Given the description of an element on the screen output the (x, y) to click on. 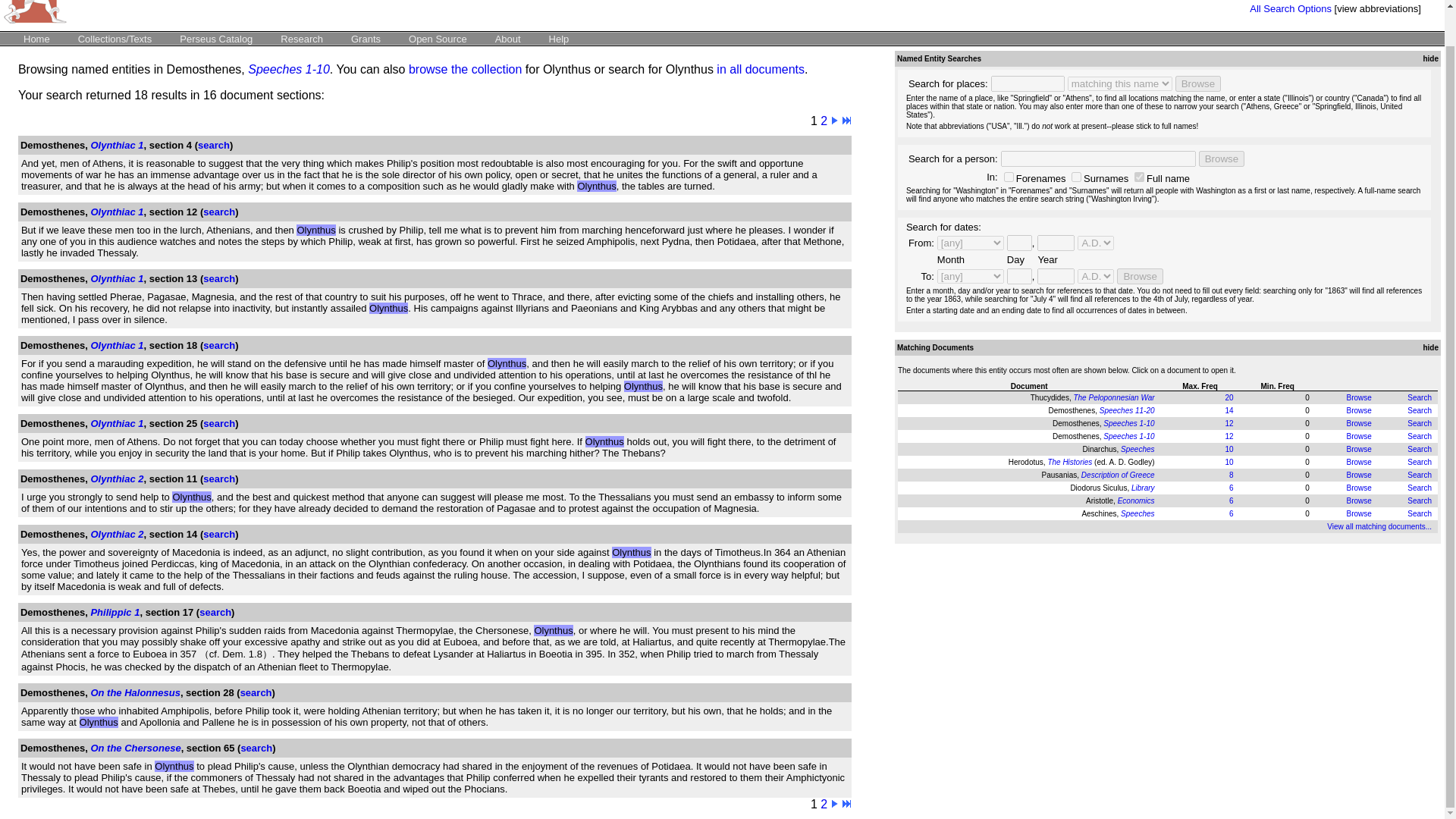
Browse (1358, 397)
on (1008, 176)
Browse (1358, 436)
hide (1429, 58)
12 (1228, 423)
Browse (1358, 461)
12 (1228, 436)
Search (1419, 461)
All Search Options (1290, 8)
Browse (1358, 449)
